Given the description of an element on the screen output the (x, y) to click on. 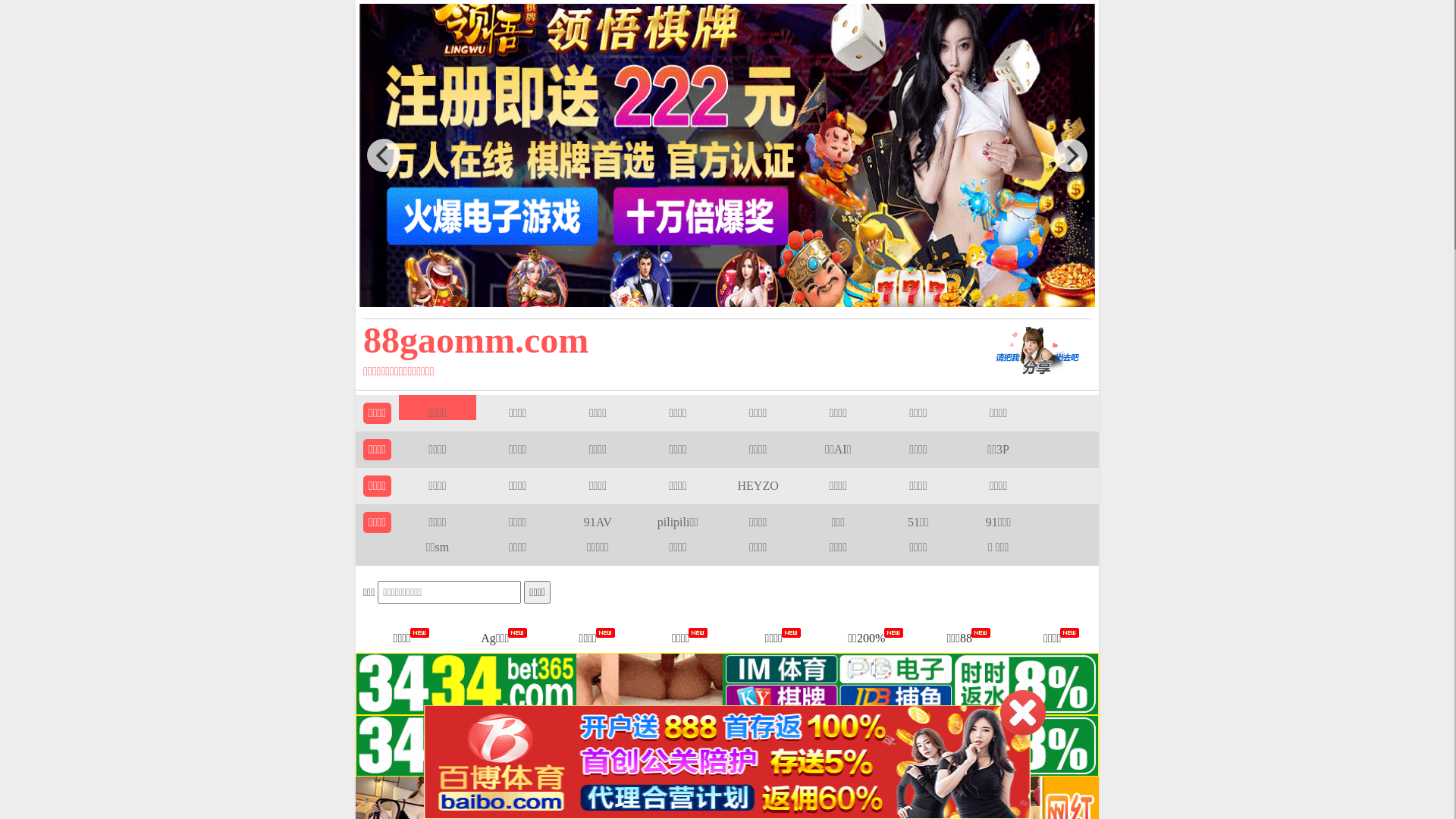
HEYZO Element type: text (757, 485)
91AV Element type: text (597, 521)
88gaomm.com Element type: text (654, 339)
